Given the description of an element on the screen output the (x, y) to click on. 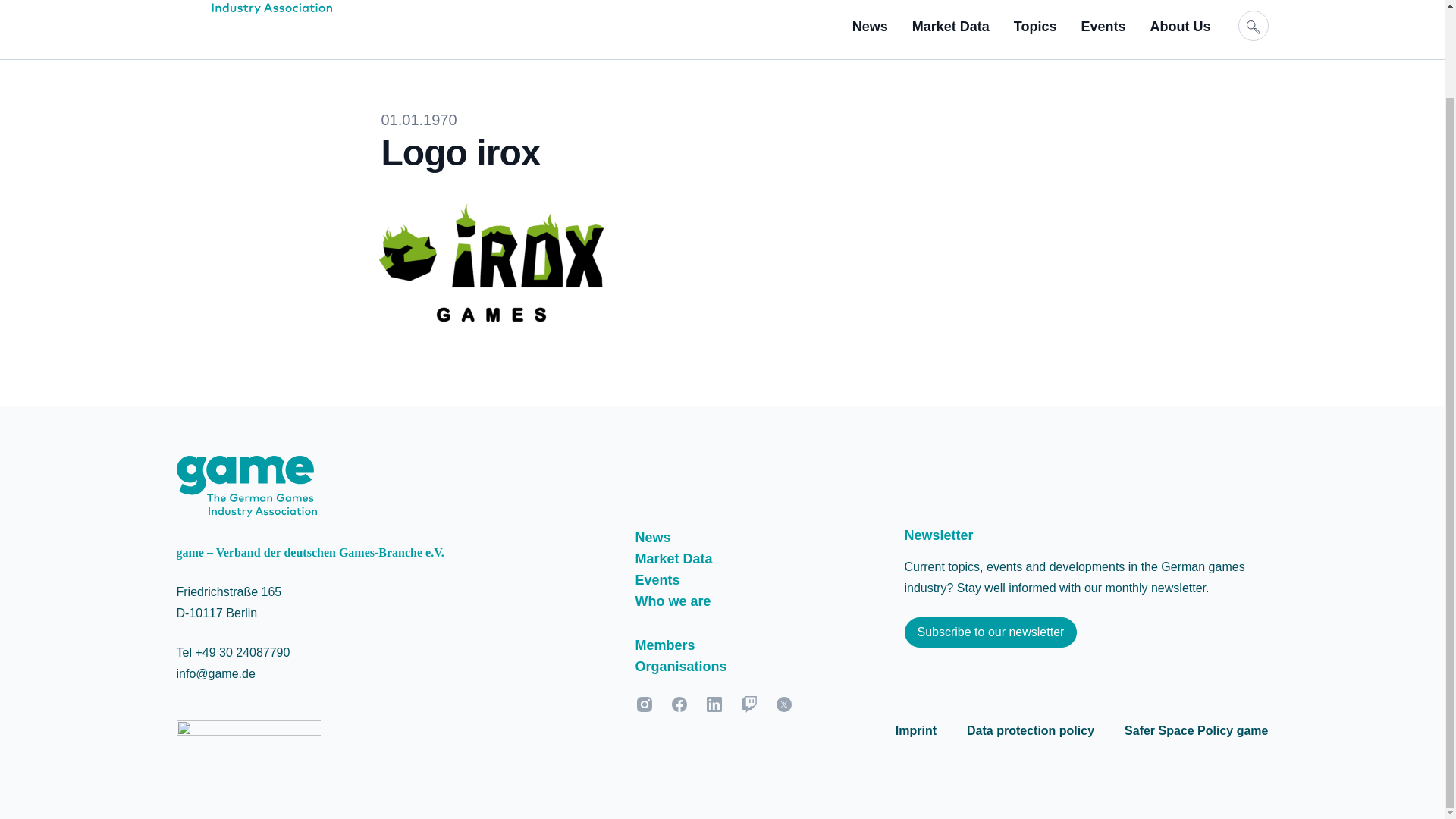
Topics (1035, 26)
Market Data (951, 26)
News (869, 26)
